Given the description of an element on the screen output the (x, y) to click on. 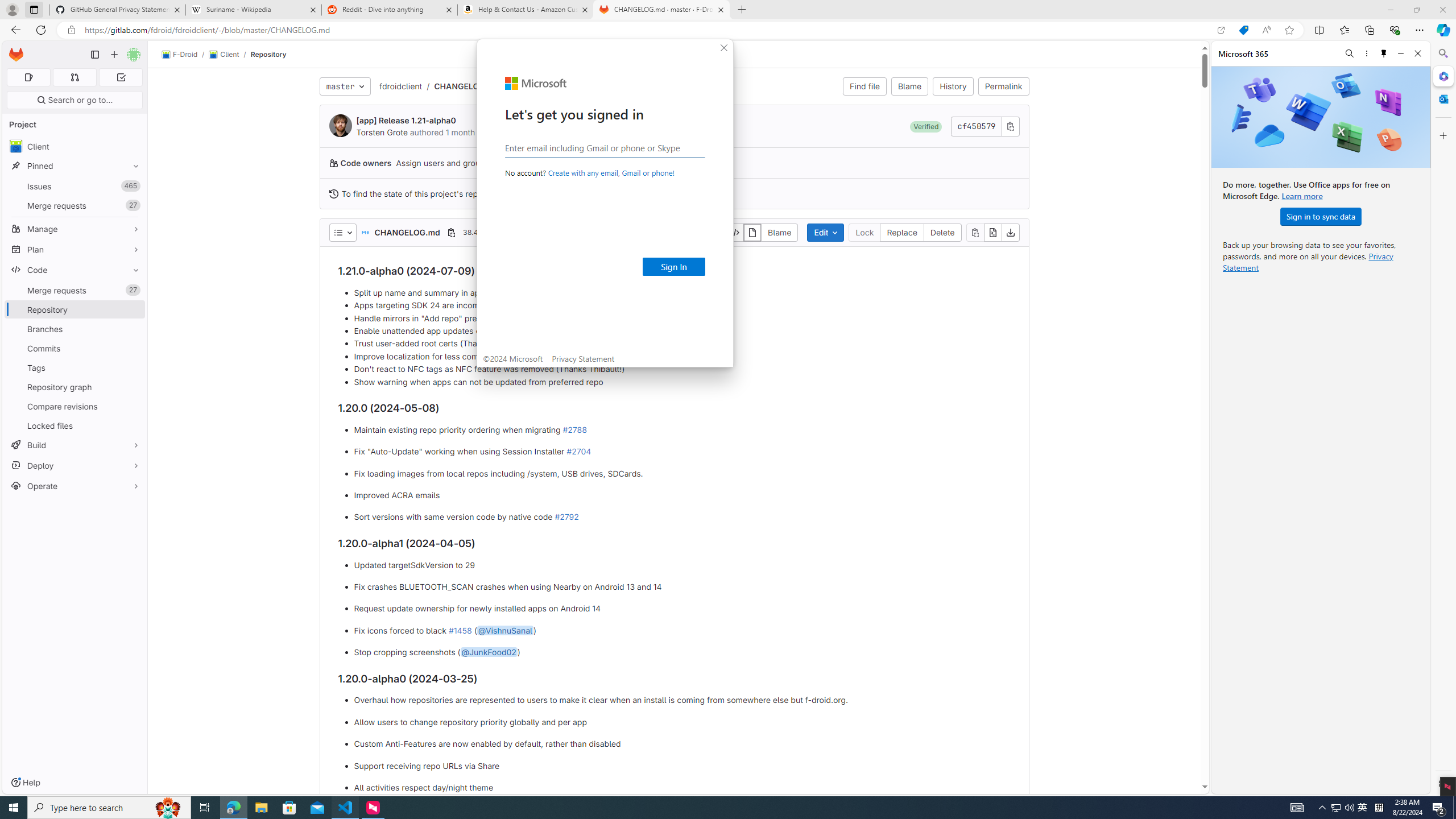
Explorer actions (118, 29)
Explorer Section: windows_crawler (99, 46)
Python (13, 197)
More Actions... (1442, 29)
Toggle Panel (Ctrl+J) (1339, 9)
Terminal (183, 9)
after_screenshot_marked.png, preview (372, 29)
Ports actions (917, 539)
View (112, 9)
Use Regular Expression (Alt+R) (1265, 61)
File (30, 9)
Toggle Primary Side Bar (Ctrl+B) (1325, 9)
Run or Debug... (1414, 29)
Find in Selection (Alt+L) (1348, 60)
Tab actions (495, 29)
